Given the description of an element on the screen output the (x, y) to click on. 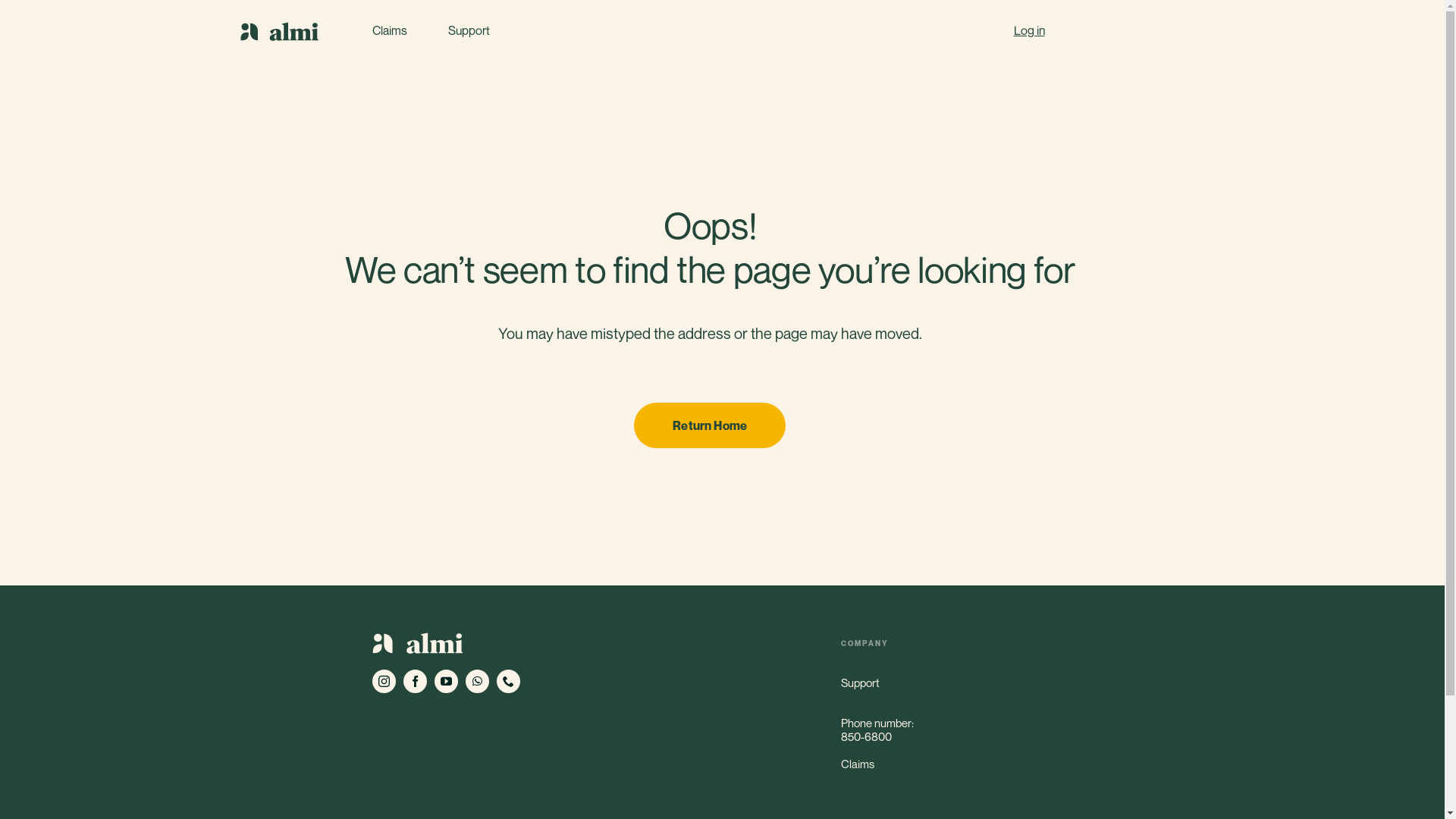
Support Element type: text (467, 30)
Log in Element type: text (1028, 29)
Claims Element type: text (956, 763)
Support Element type: text (956, 682)
Claims Element type: text (388, 30)
Return Home Element type: text (709, 425)
